Given the description of an element on the screen output the (x, y) to click on. 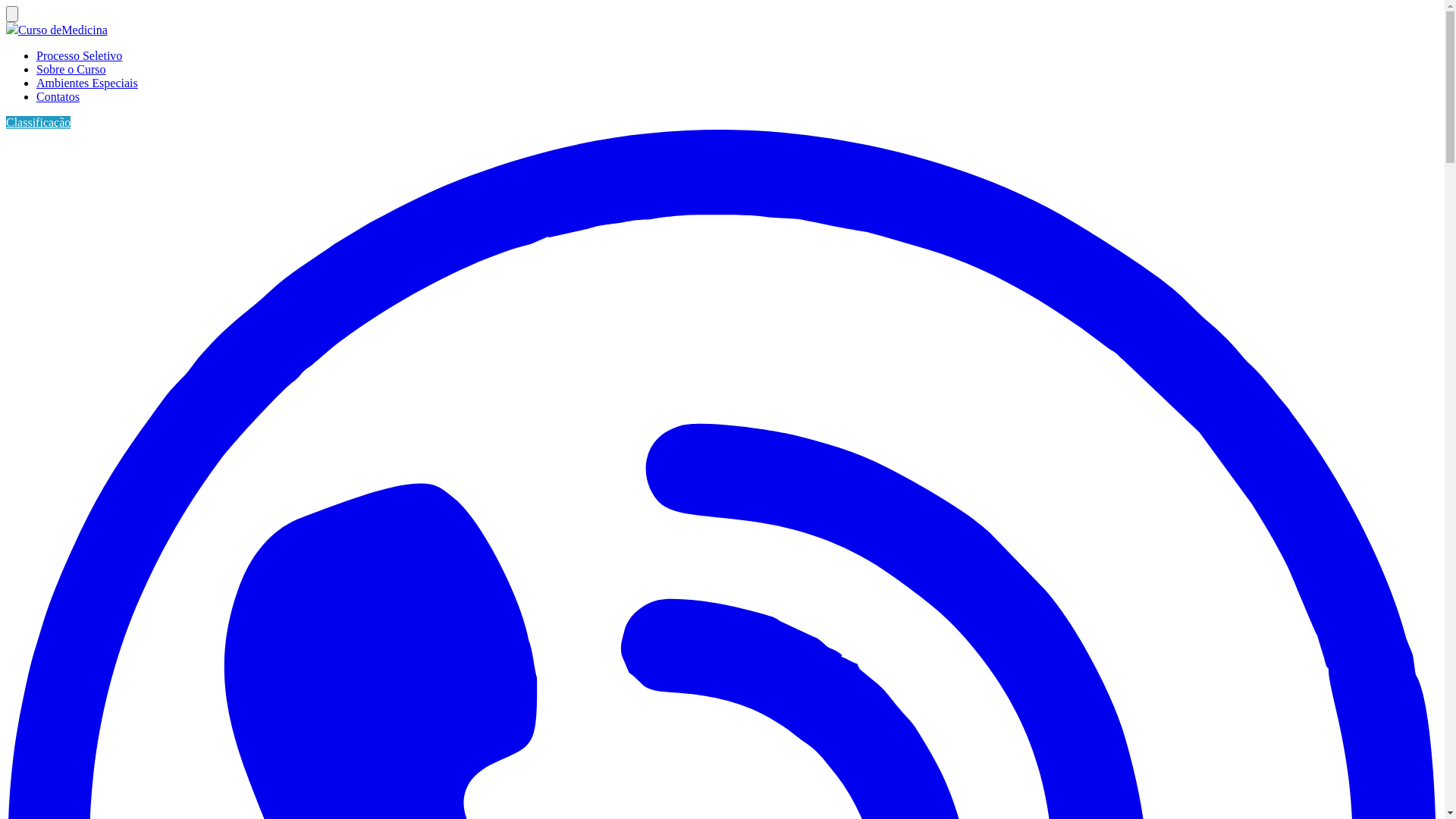
Sobre o Curso Element type: text (71, 68)
Contatos Element type: text (57, 96)
Curso deMedicina Element type: text (62, 29)
Processo Seletivo Element type: text (79, 55)
Ambientes Especiais Element type: text (87, 82)
